Given the description of an element on the screen output the (x, y) to click on. 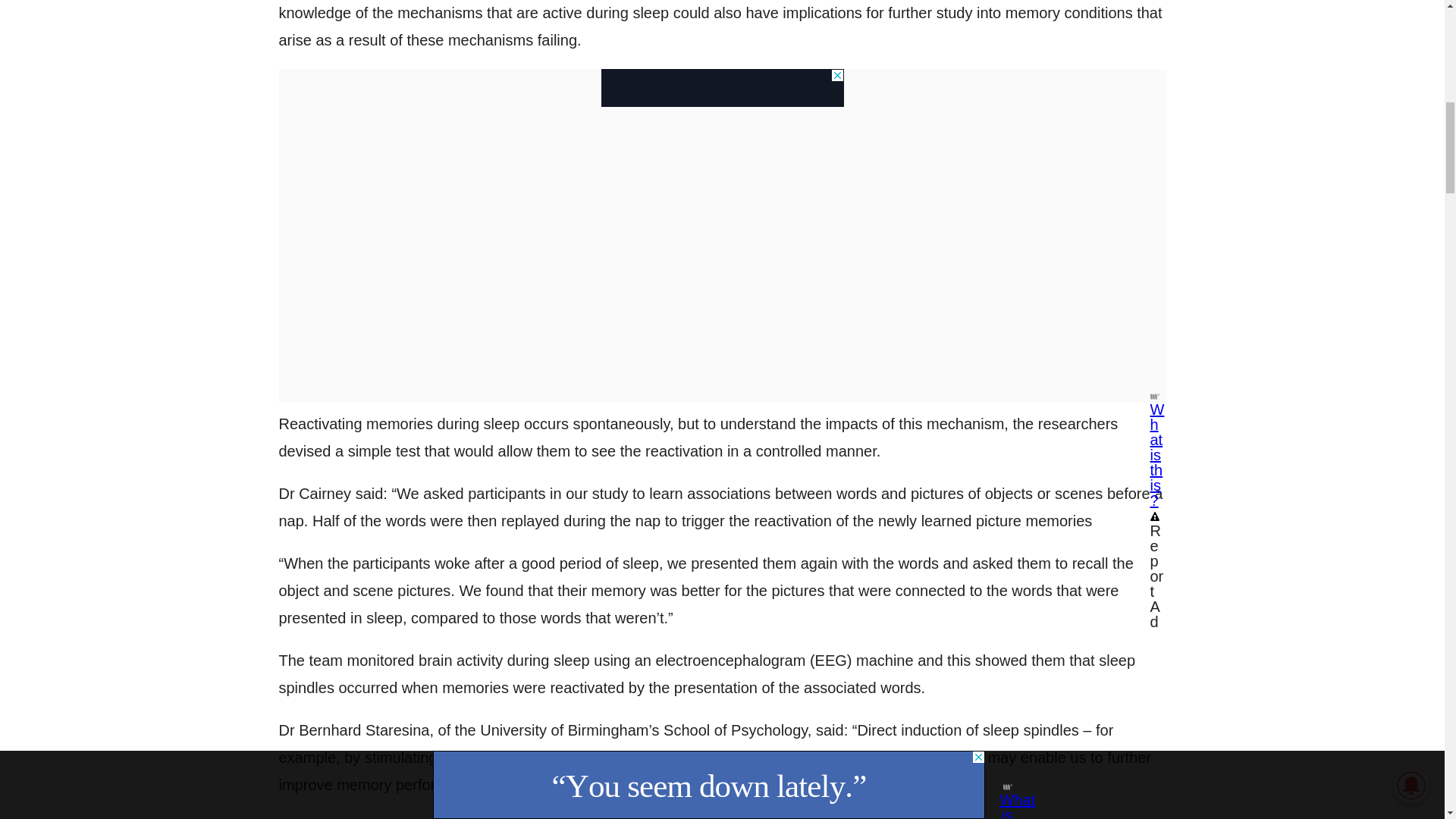
3rd party ad content (721, 87)
